Given the description of an element on the screen output the (x, y) to click on. 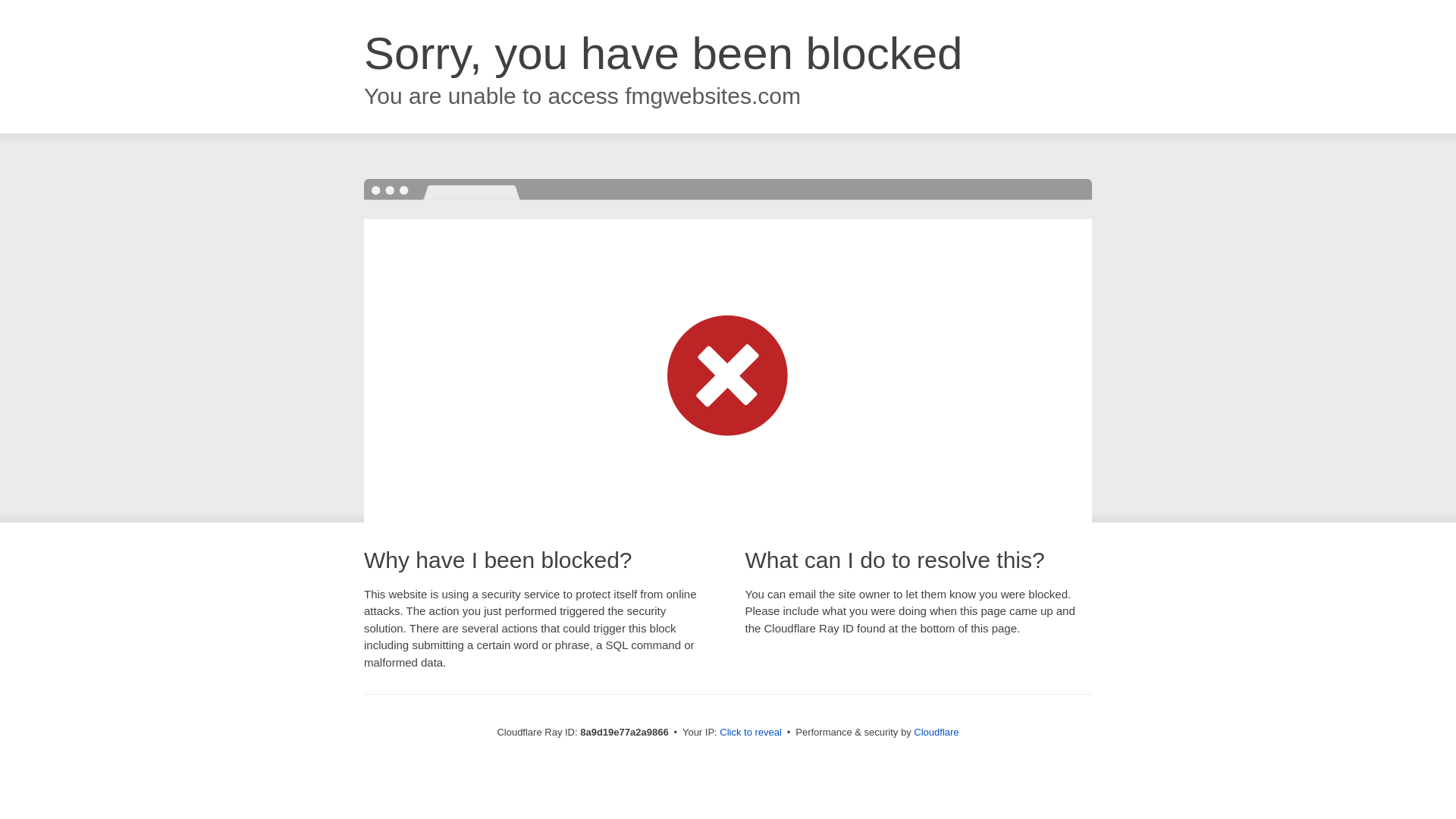
Click to reveal (750, 732)
Cloudflare (936, 731)
